Given the description of an element on the screen output the (x, y) to click on. 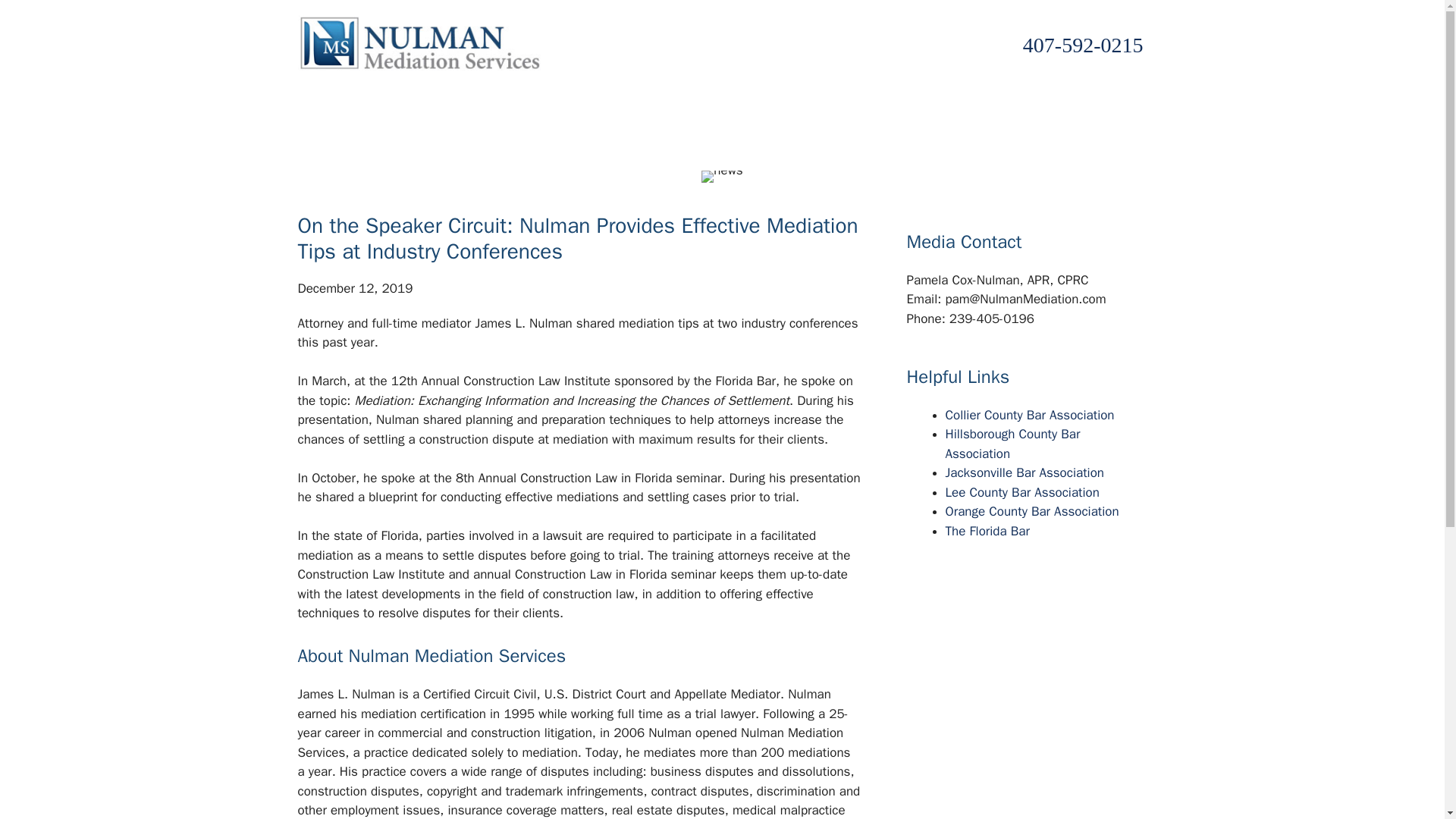
Home (312, 109)
Collier County Bar Association (1028, 415)
Mediation Services (469, 109)
Jacksonville Bar Association (1023, 472)
News (745, 109)
Community (662, 109)
The Florida Bar (986, 530)
News (745, 109)
Hillsborough County Bar Association (1012, 443)
Contact Us (827, 109)
